Given the description of an element on the screen output the (x, y) to click on. 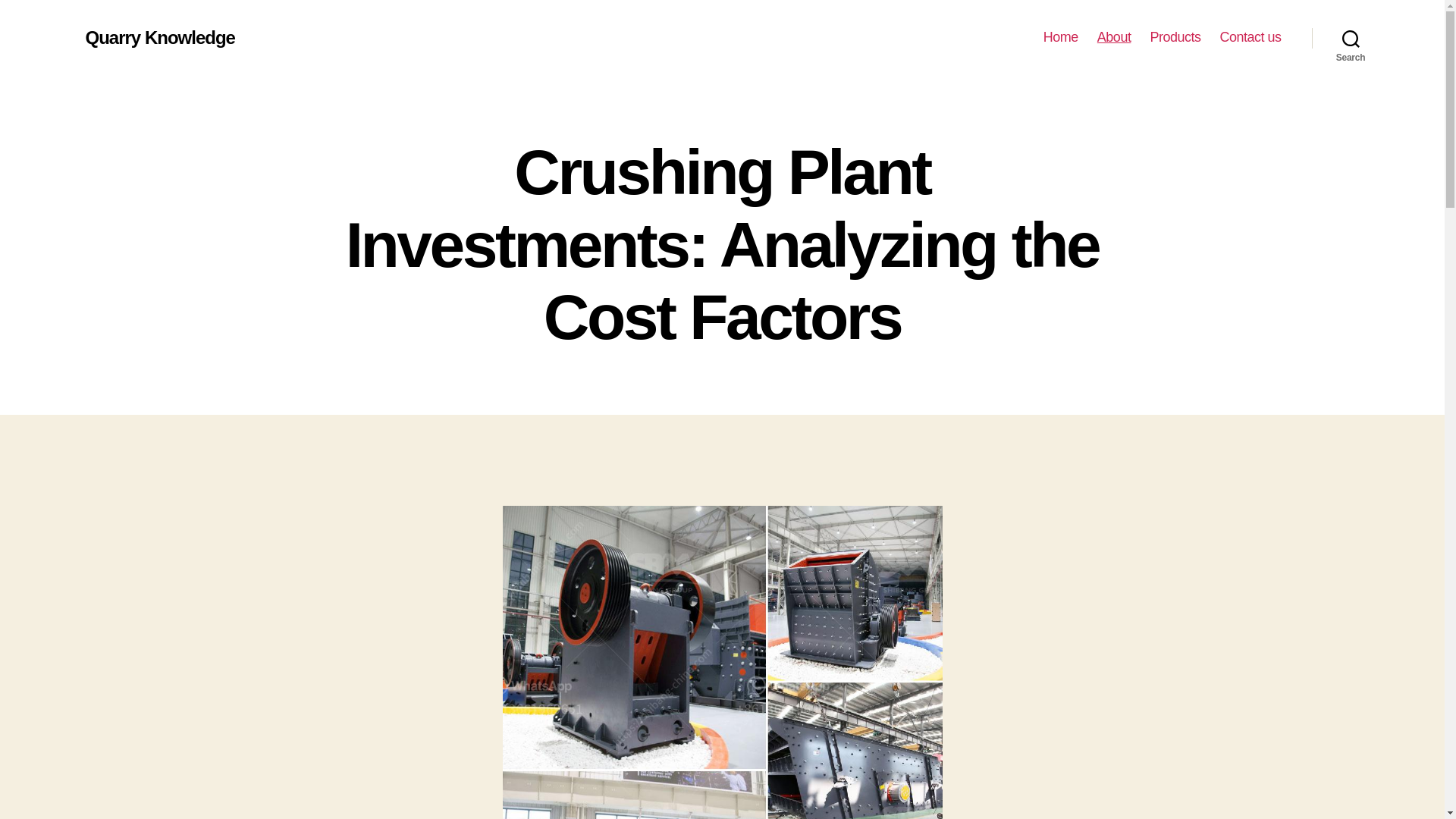
Products (1174, 37)
Home (1060, 37)
About (1114, 37)
Quarry Knowledge (159, 37)
Contact us (1250, 37)
Search (1350, 37)
